Given the description of an element on the screen output the (x, y) to click on. 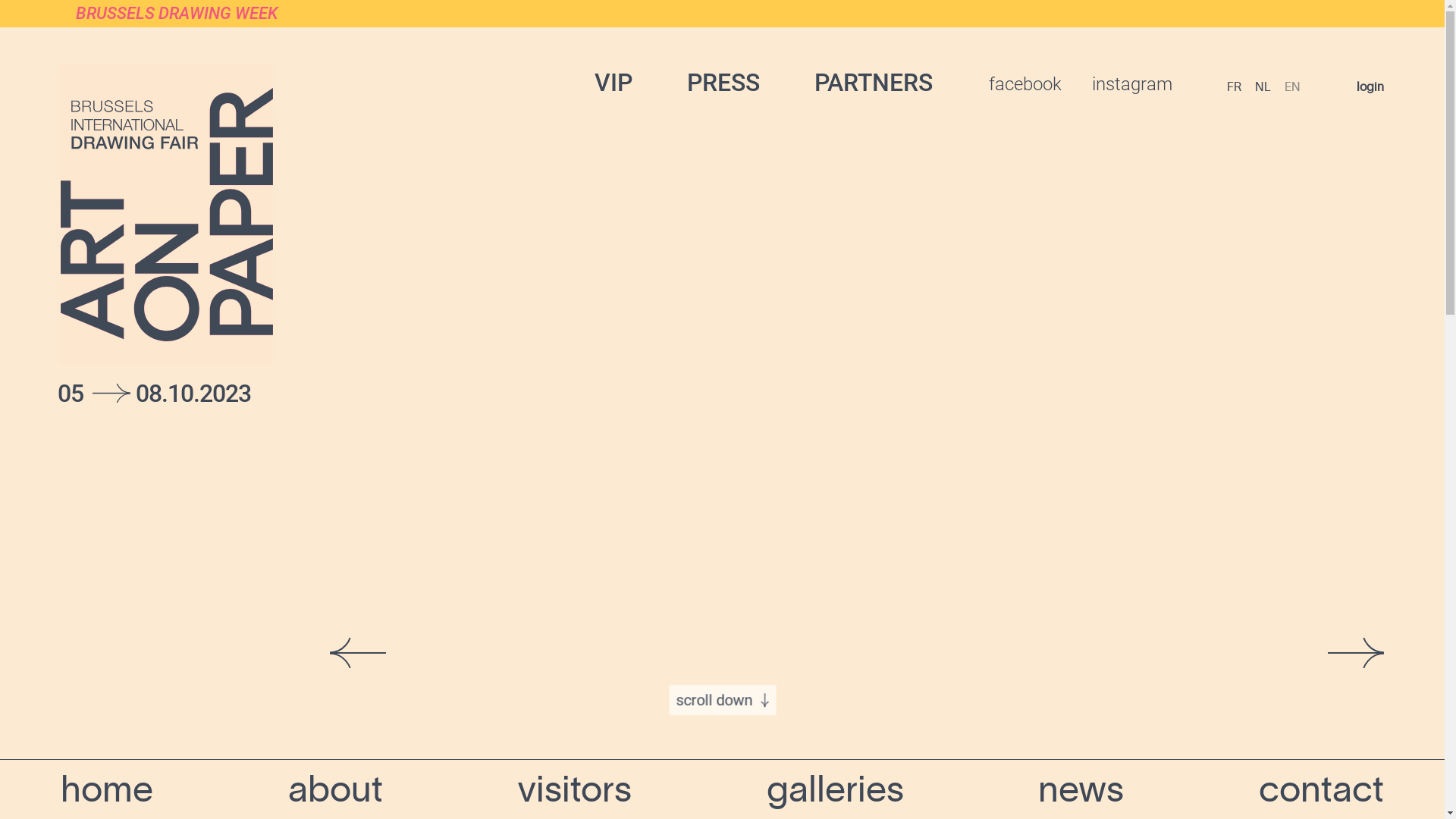
PARTNERS Element type: text (873, 82)
brussels drawing week Element type: text (595, 742)
BRUSSELS DRAWING WEEK Element type: text (722, 13)
VIP Element type: text (613, 82)
login Element type: text (1369, 86)
PRESS Element type: text (723, 82)
facebook Element type: text (1024, 83)
photo gallery Element type: text (358, 742)
instagram Element type: text (1132, 83)
EN Element type: text (1292, 86)
list of exhibitors Element type: text (824, 742)
NL Element type: text (1262, 86)
FR Element type: text (1233, 86)
insights Element type: text (1070, 742)
